Given the description of an element on the screen output the (x, y) to click on. 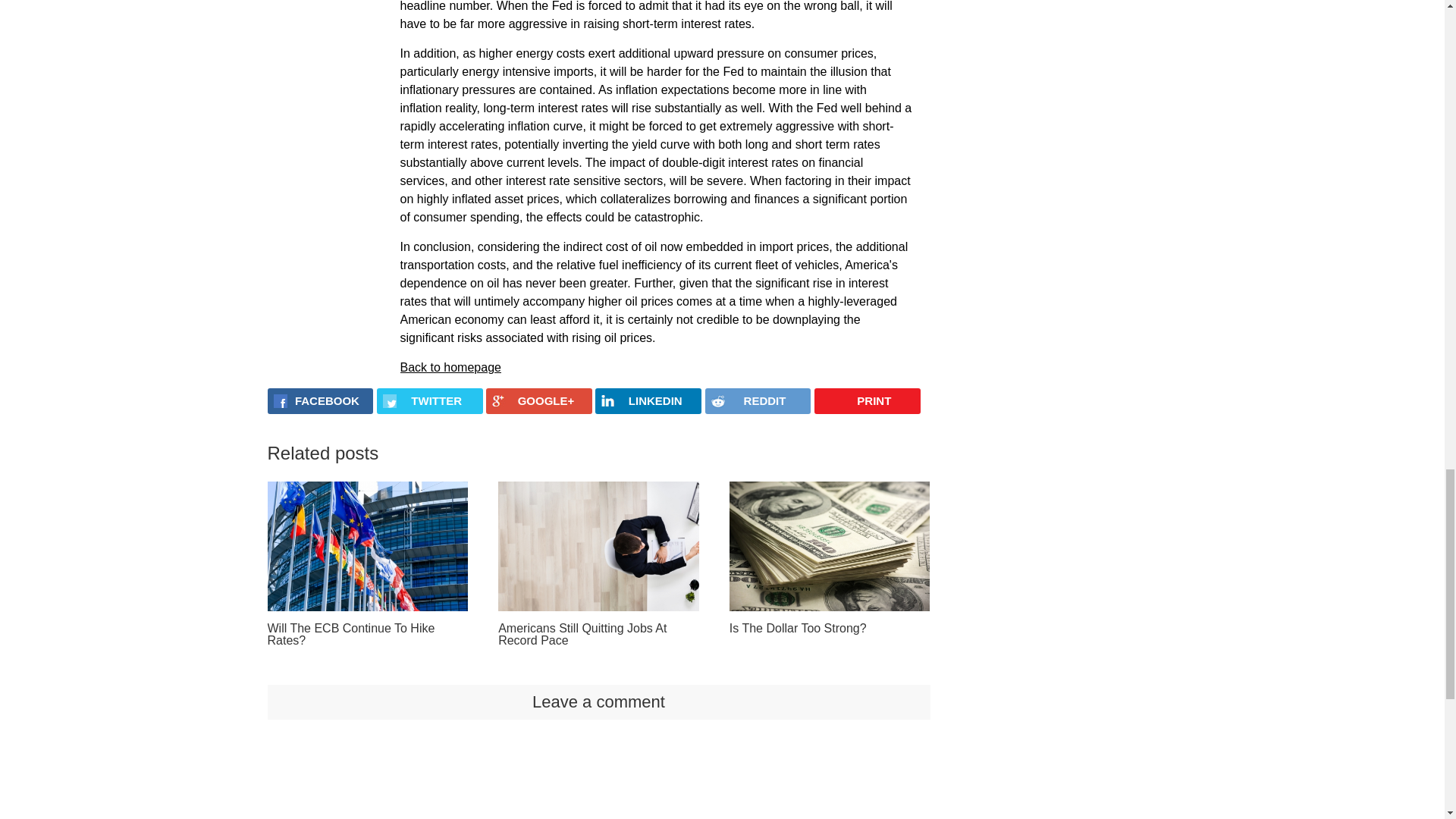
Americans Still Quitting Jobs At Record Pace (597, 545)
Will The ECB Continue To Hike Rates? (366, 545)
Is The Dollar Too Strong? (829, 545)
